Given the description of an element on the screen output the (x, y) to click on. 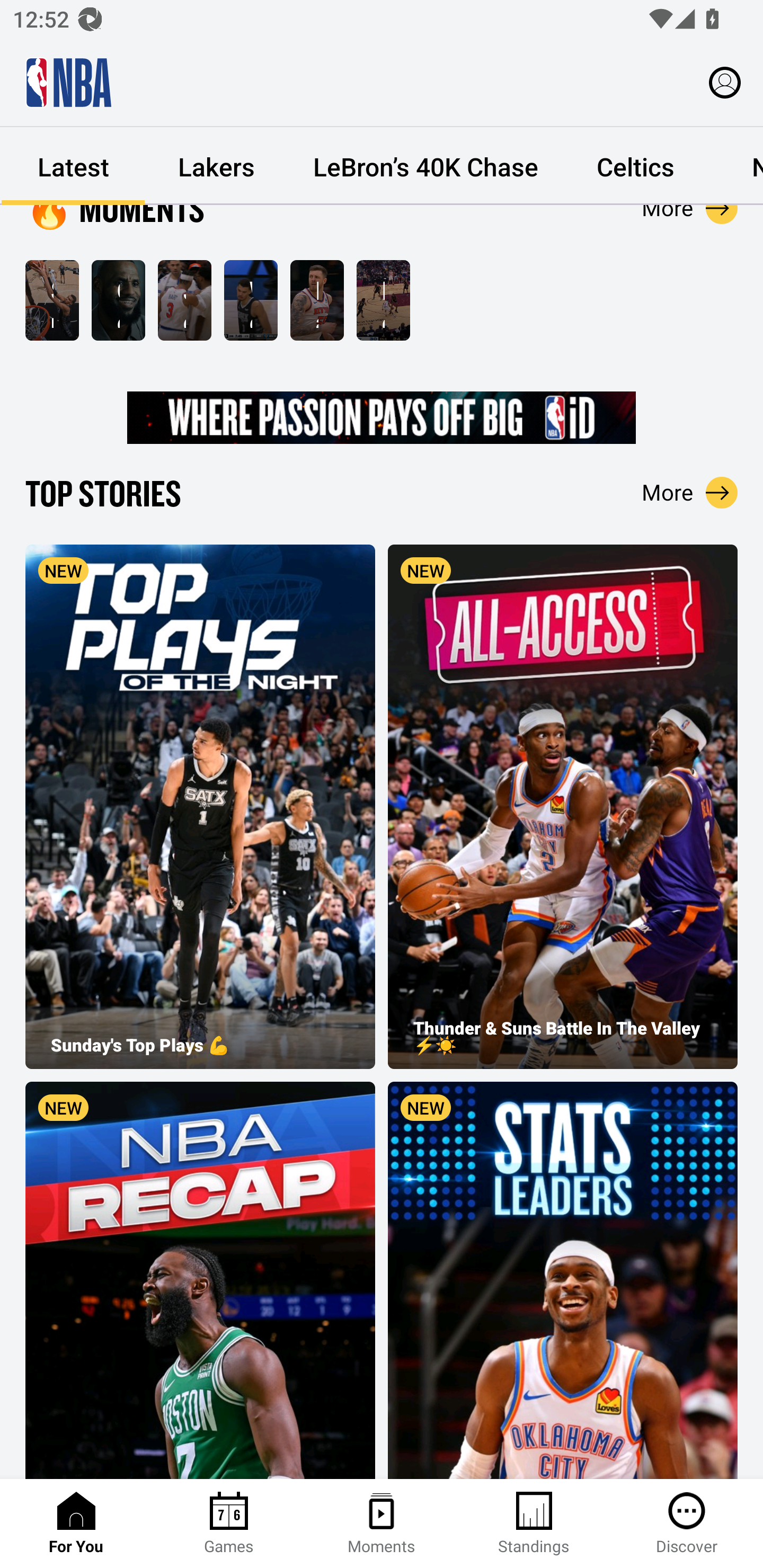
Profile (724, 81)
Lakers (215, 166)
LeBron’s 40K Chase (425, 166)
Celtics (634, 166)
Sunday's Top Plays In 30 Seconds ⏱ (51, 300)
Hartenstein Drops The Hammer 🔨 (317, 300)
More (689, 492)
NEW Sunday's Top Plays 💪 (200, 806)
NEW Thunder & Suns Battle In The Valley ⚡☀ (562, 806)
NEW (200, 1279)
NEW (562, 1279)
Games (228, 1523)
Moments (381, 1523)
Standings (533, 1523)
Discover (686, 1523)
